Given the description of an element on the screen output the (x, y) to click on. 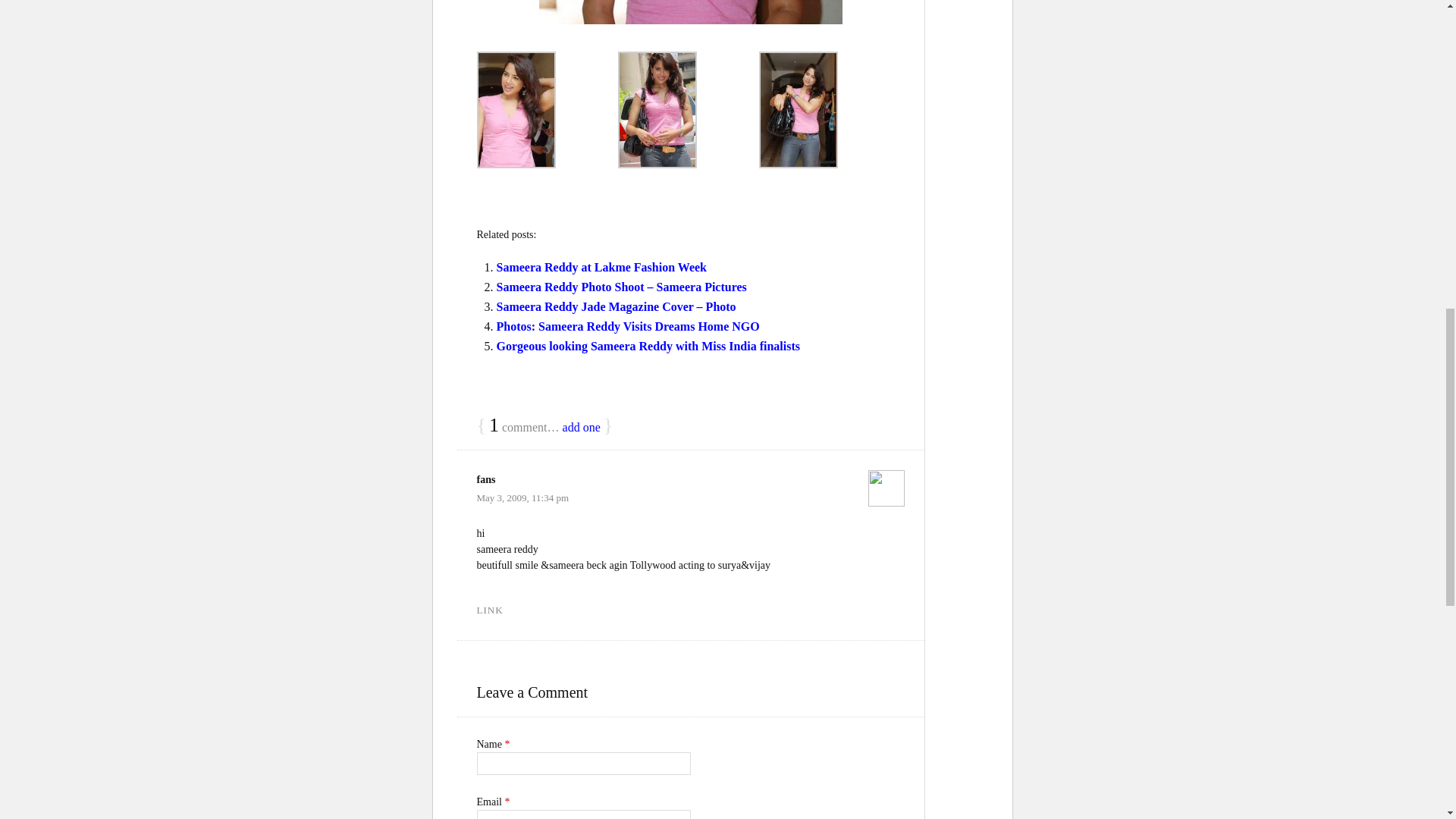
add one (580, 427)
LINK (489, 609)
permalink to this comment (489, 609)
